Given the description of an element on the screen output the (x, y) to click on. 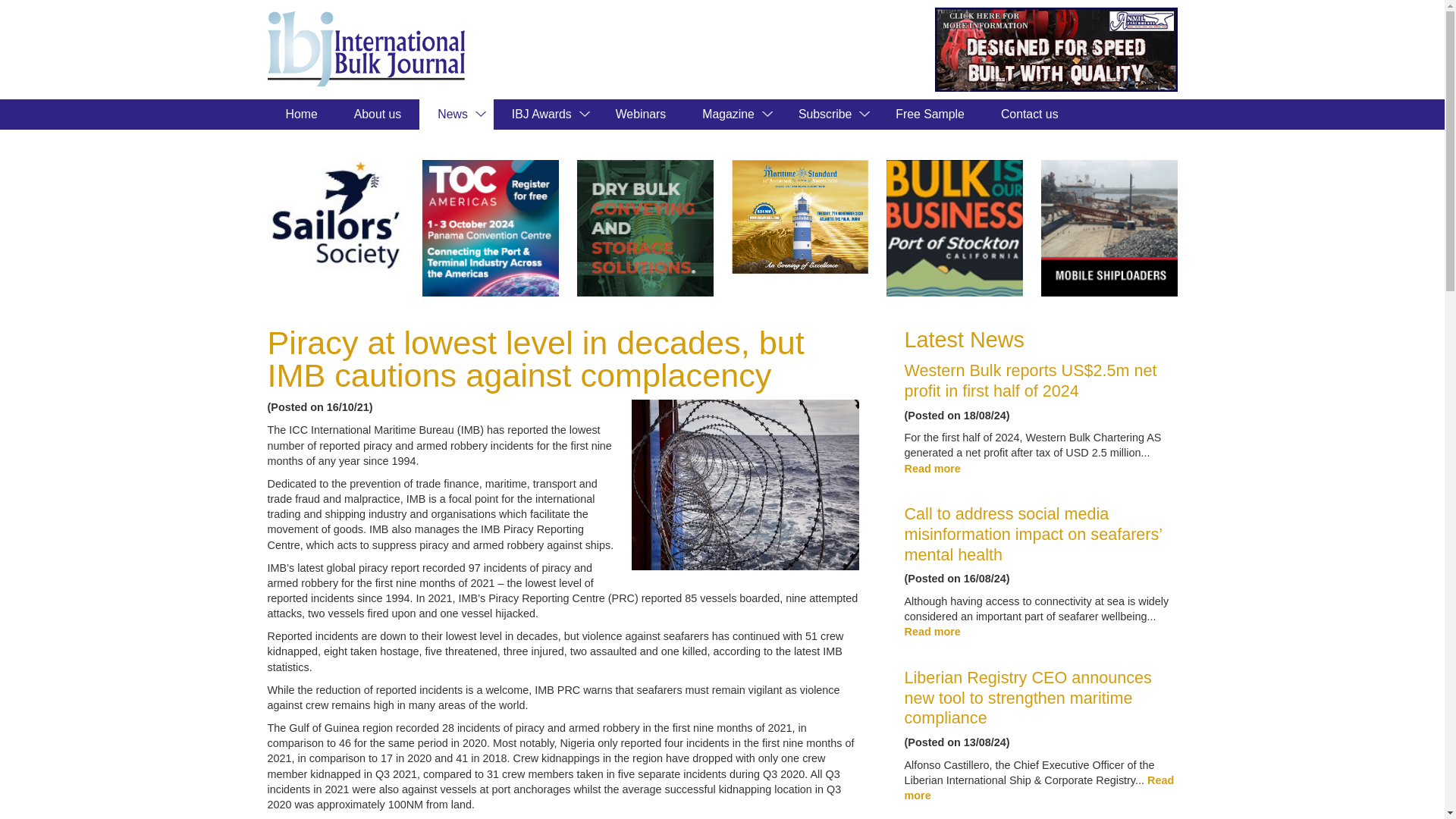
IBJ Awards (544, 114)
News (456, 114)
About us (377, 114)
Home (300, 114)
